Given the description of an element on the screen output the (x, y) to click on. 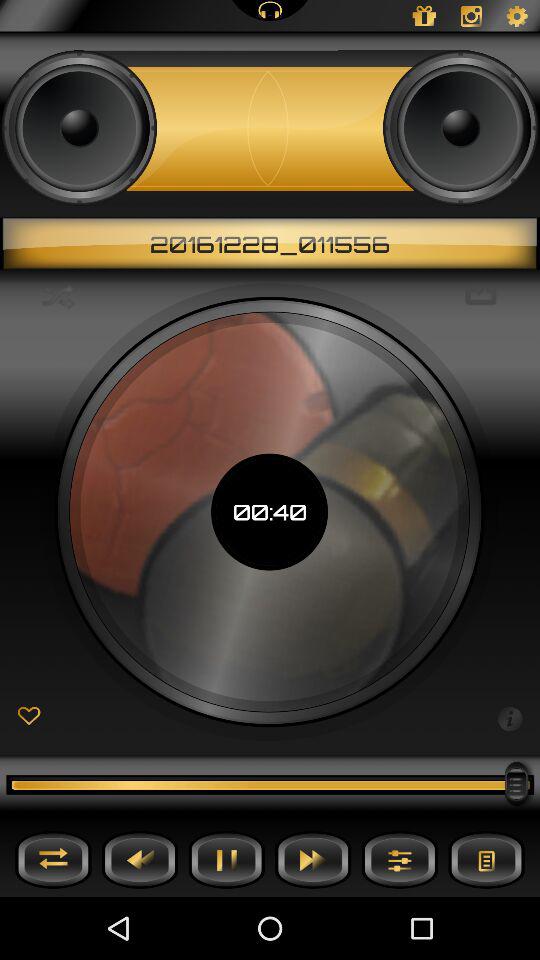
select options (399, 859)
